Given the description of an element on the screen output the (x, y) to click on. 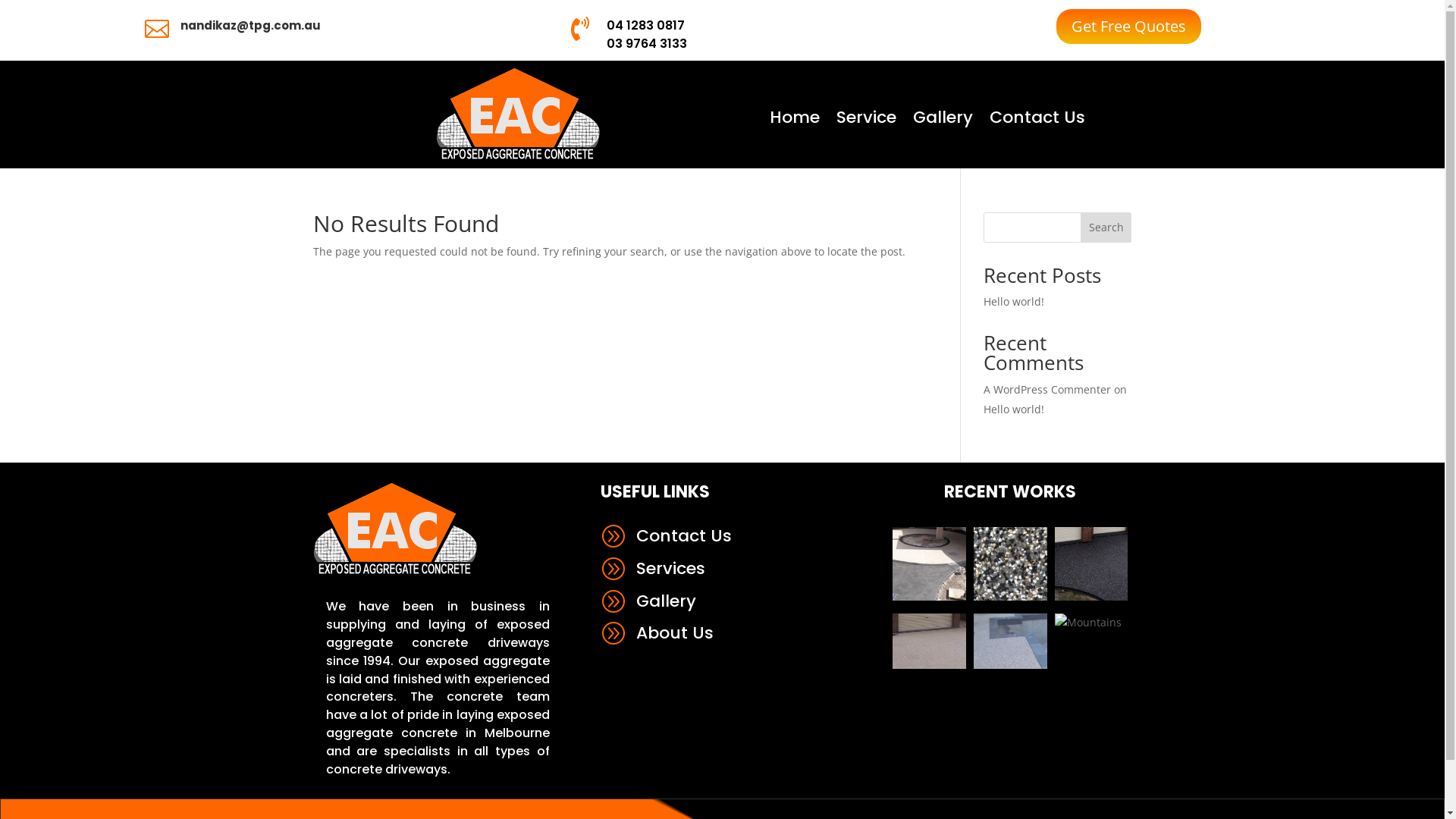
Contact Us Element type: text (1036, 120)
Get Free Quotes Element type: text (1128, 26)
EAC Logo Element type: hover (394, 528)
Hello world! Element type: text (1013, 301)
A WordPress Commenter Element type: text (1046, 389)
EAC Logo Element type: hover (517, 114)
Gallery Element type: text (942, 120)
Home Element type: text (793, 120)
Search Element type: text (1106, 227)
Hello world! Element type: text (1013, 408)
Service Element type: text (865, 120)
